Given the description of an element on the screen output the (x, y) to click on. 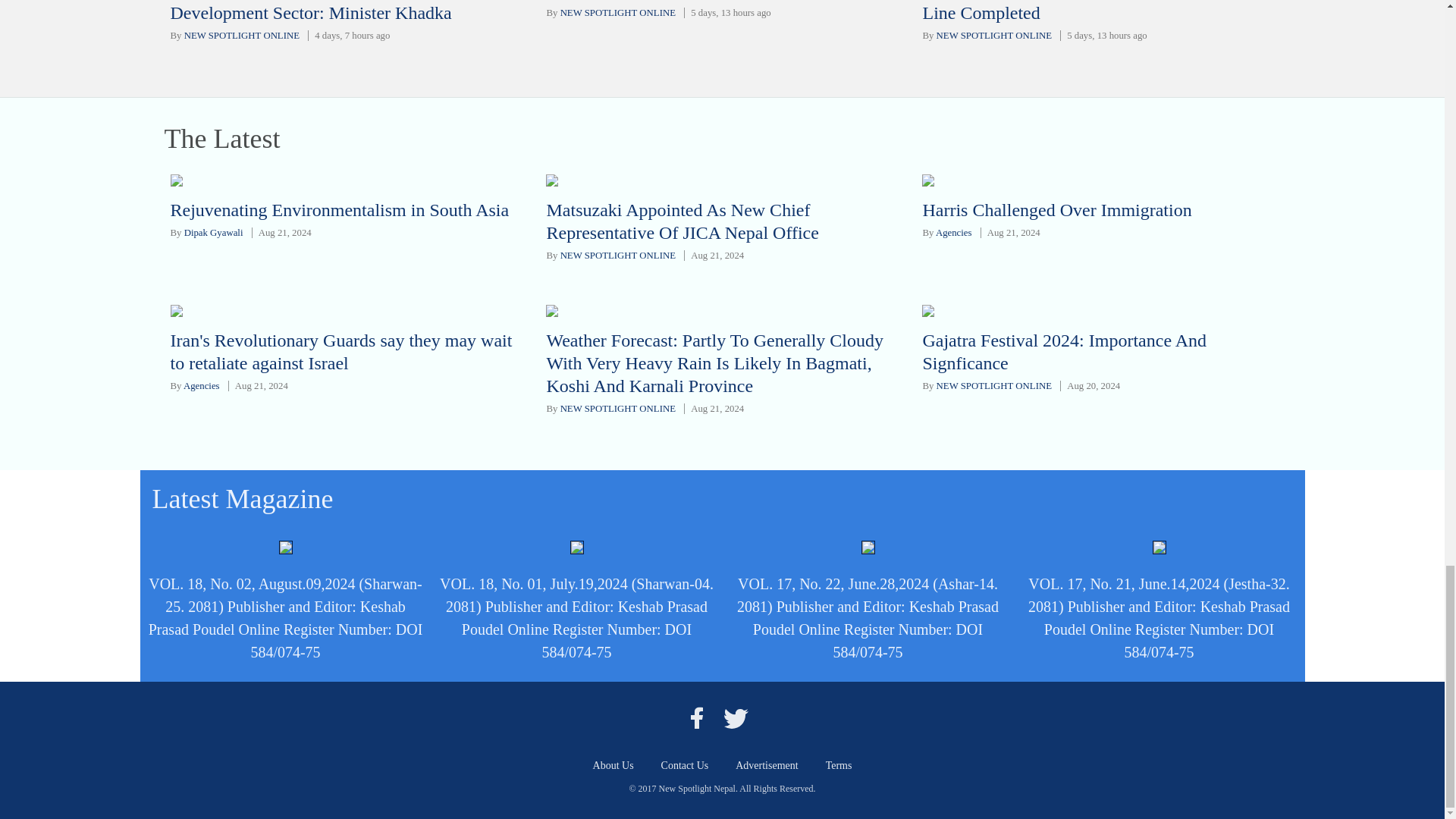
NEW SPOTLIGHT ONLINE (993, 35)
NEW SPOTLIGHT ONLINE (241, 35)
Spotlight Nepal Twitter (735, 717)
twitter icon (735, 717)
132 kV Dhalkebar-Loharpatti Transmission Line Completed (1080, 11)
Spotlight Nepal Facebook (695, 717)
facebook icon (695, 717)
NEW SPOTLIGHT ONLINE (617, 12)
